Given the description of an element on the screen output the (x, y) to click on. 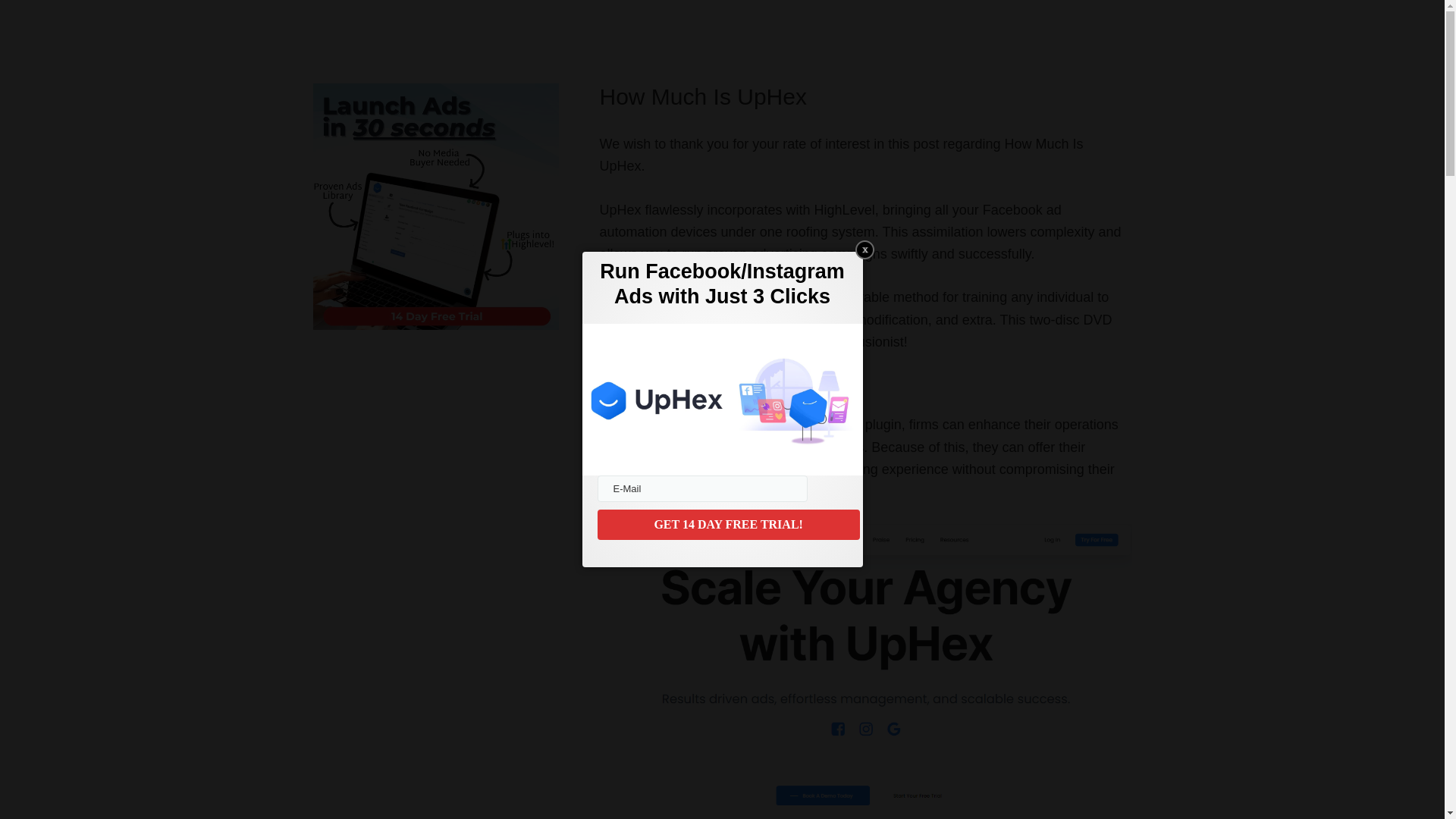
GET 14 DAY FREE TRIAL! (728, 524)
GET 14 DAY FREE TRIAL! (728, 524)
